Given the description of an element on the screen output the (x, y) to click on. 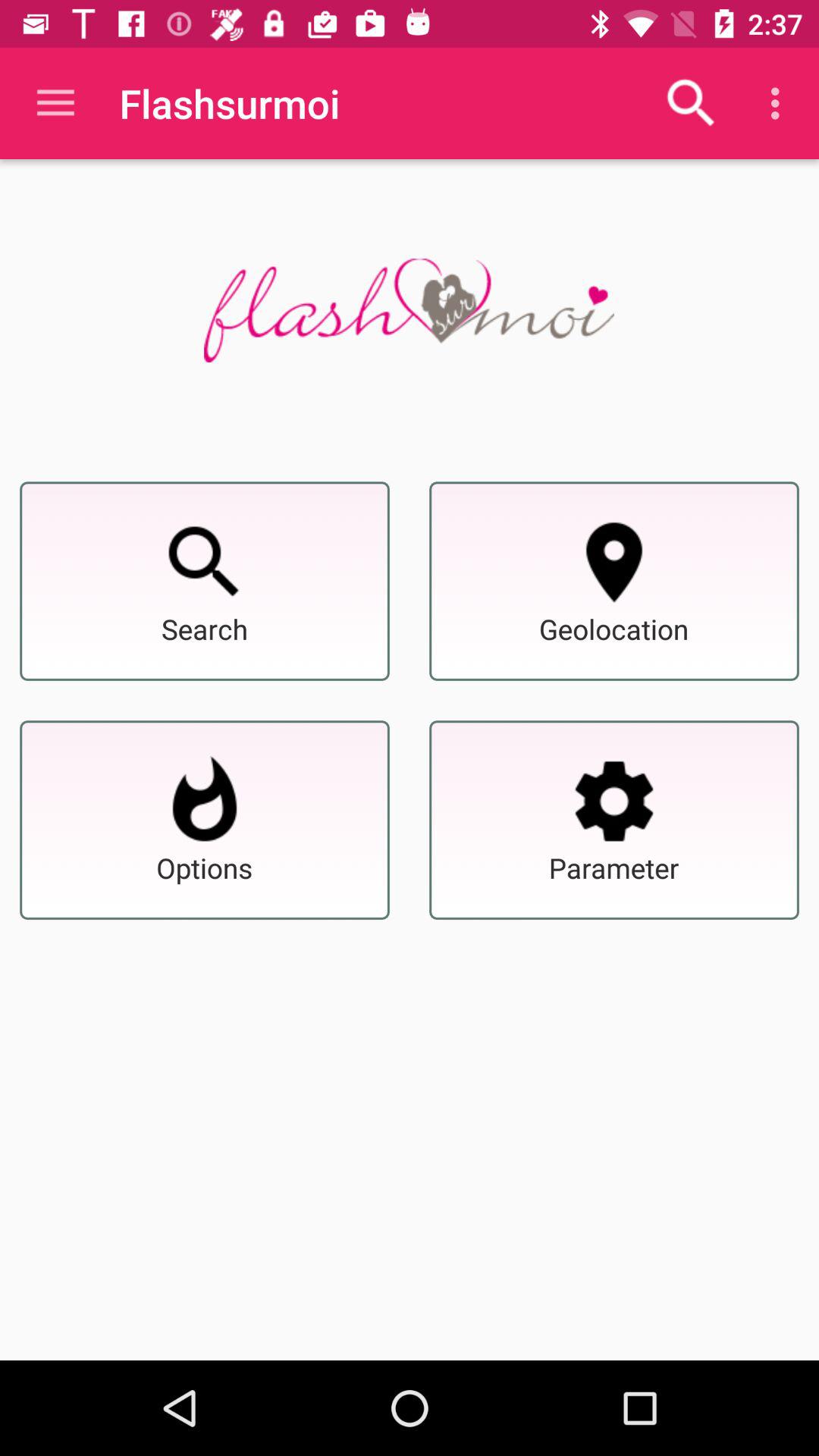
find location (614, 562)
